Given the description of an element on the screen output the (x, y) to click on. 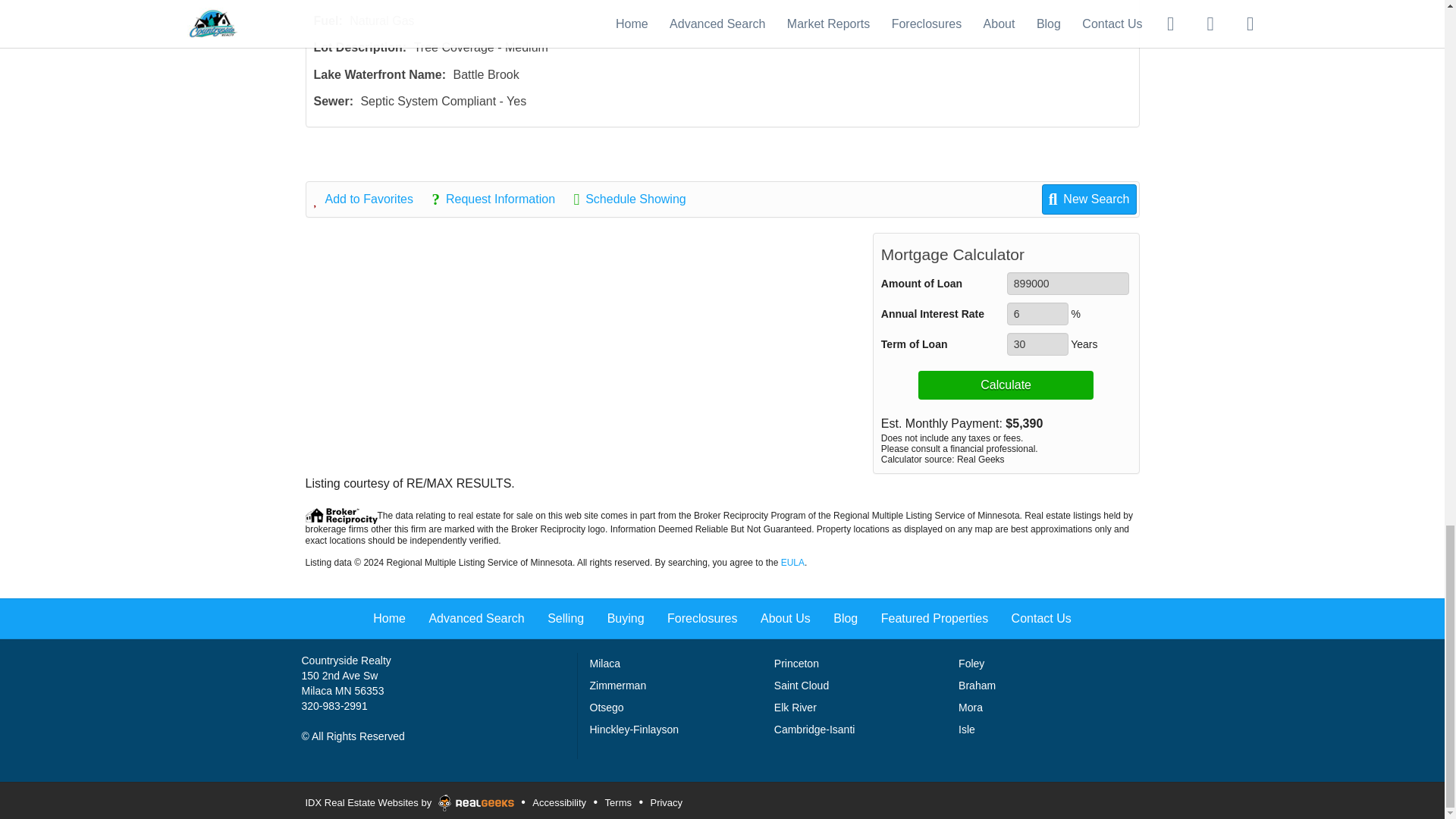
6 (1037, 313)
30 (1037, 343)
899000 (1068, 282)
